Given the description of an element on the screen output the (x, y) to click on. 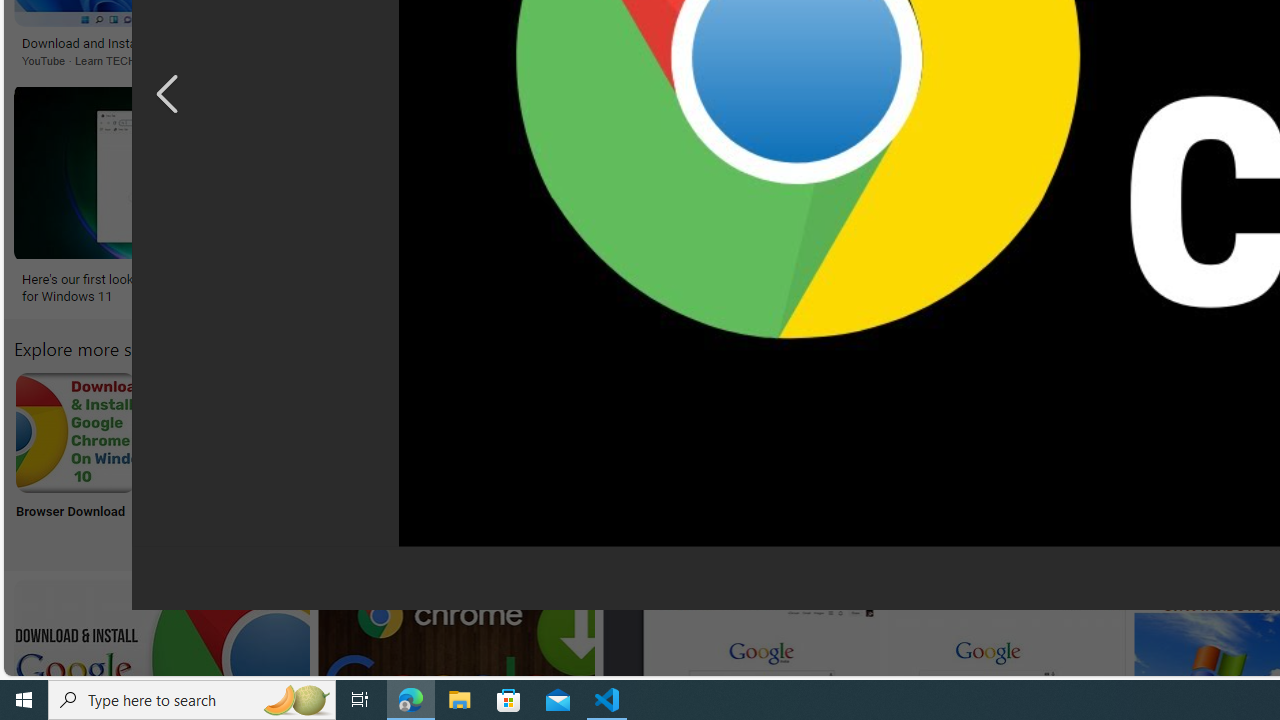
Chrome Icon.png (867, 432)
Download and Install Google Chrome on Windows 11 (162, 43)
How to download google chrome on windows 10 - bombver (494, 287)
Chrome Desktop Computer Desktop Computer (735, 458)
Windows XP Google Chrome Windows XP Google (339, 458)
Windows XP Google (339, 457)
How to download google chrome on windows 10 - bombverSave (498, 196)
How to Install Google Chrome on Windows 11 (778, 44)
How to Install Google Chrome on Windows 11 (788, 44)
How To Download And Install Google Chrome On Windows 10 (1094, 52)
How To Download And Install Google Chrome On Windows 10 (1094, 52)
Logo png (999, 457)
